Given the description of an element on the screen output the (x, y) to click on. 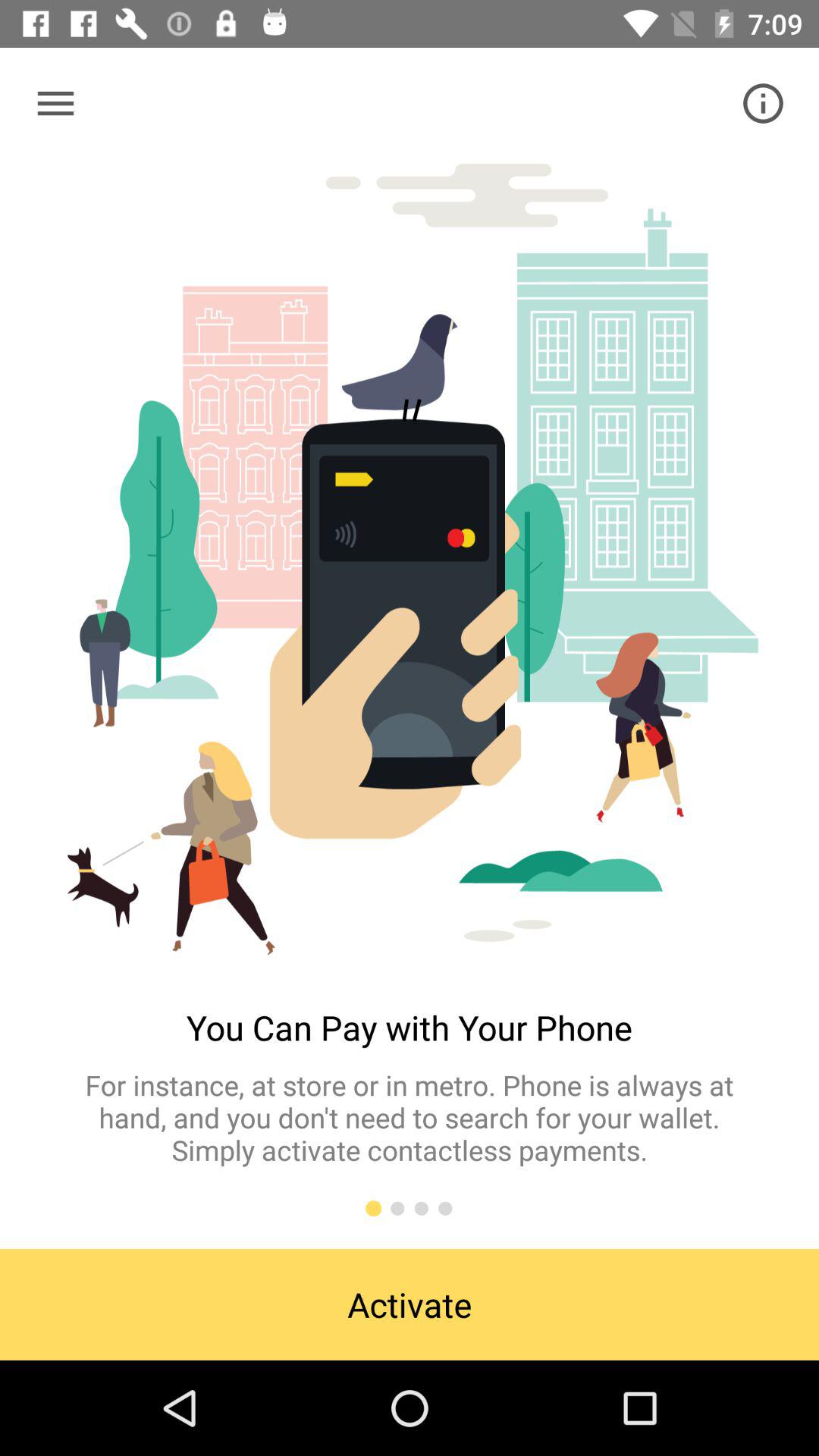
lists the menu (55, 103)
